Given the description of an element on the screen output the (x, y) to click on. 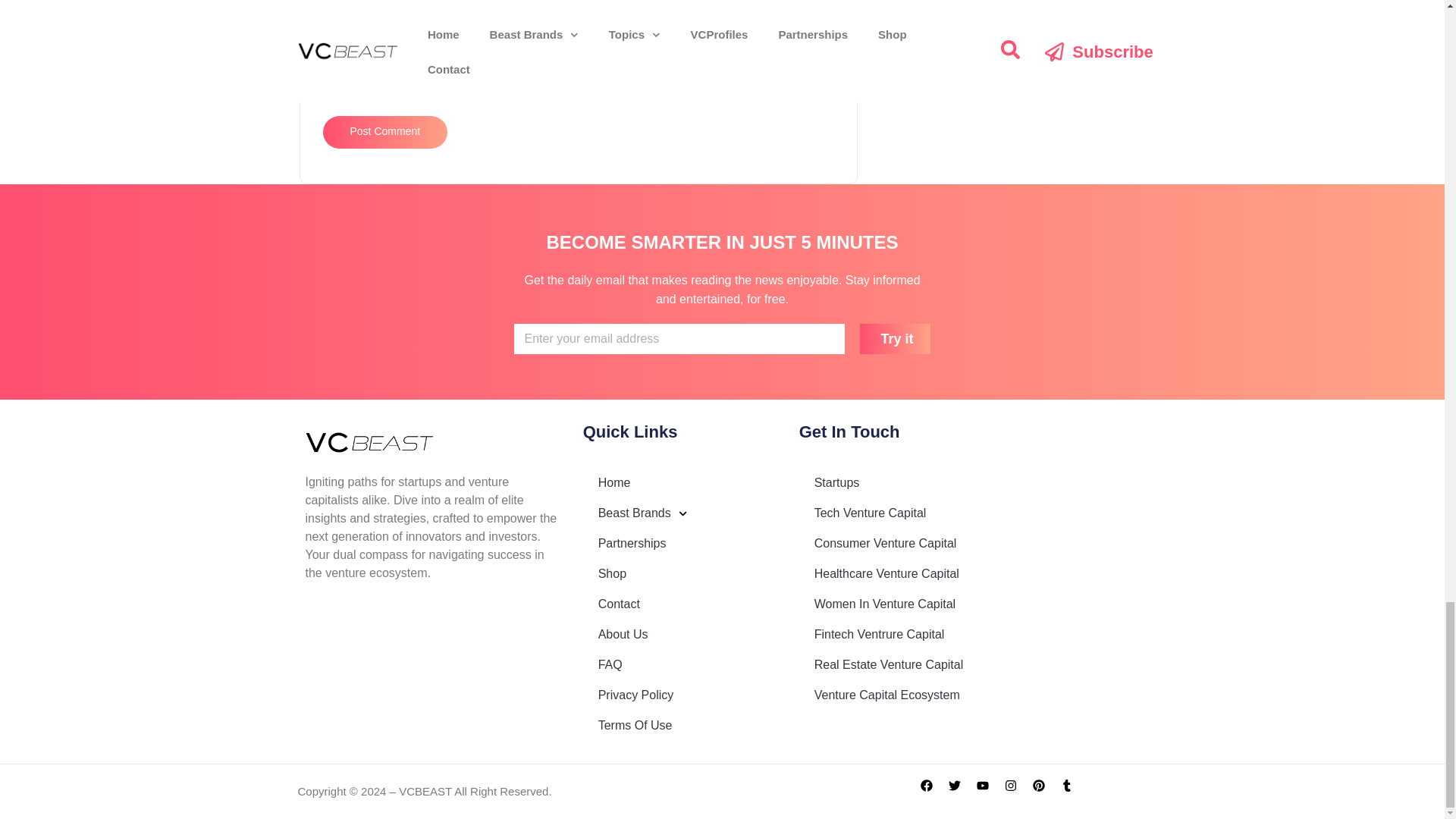
Post Comment (385, 132)
yes (328, 92)
